Given the description of an element on the screen output the (x, y) to click on. 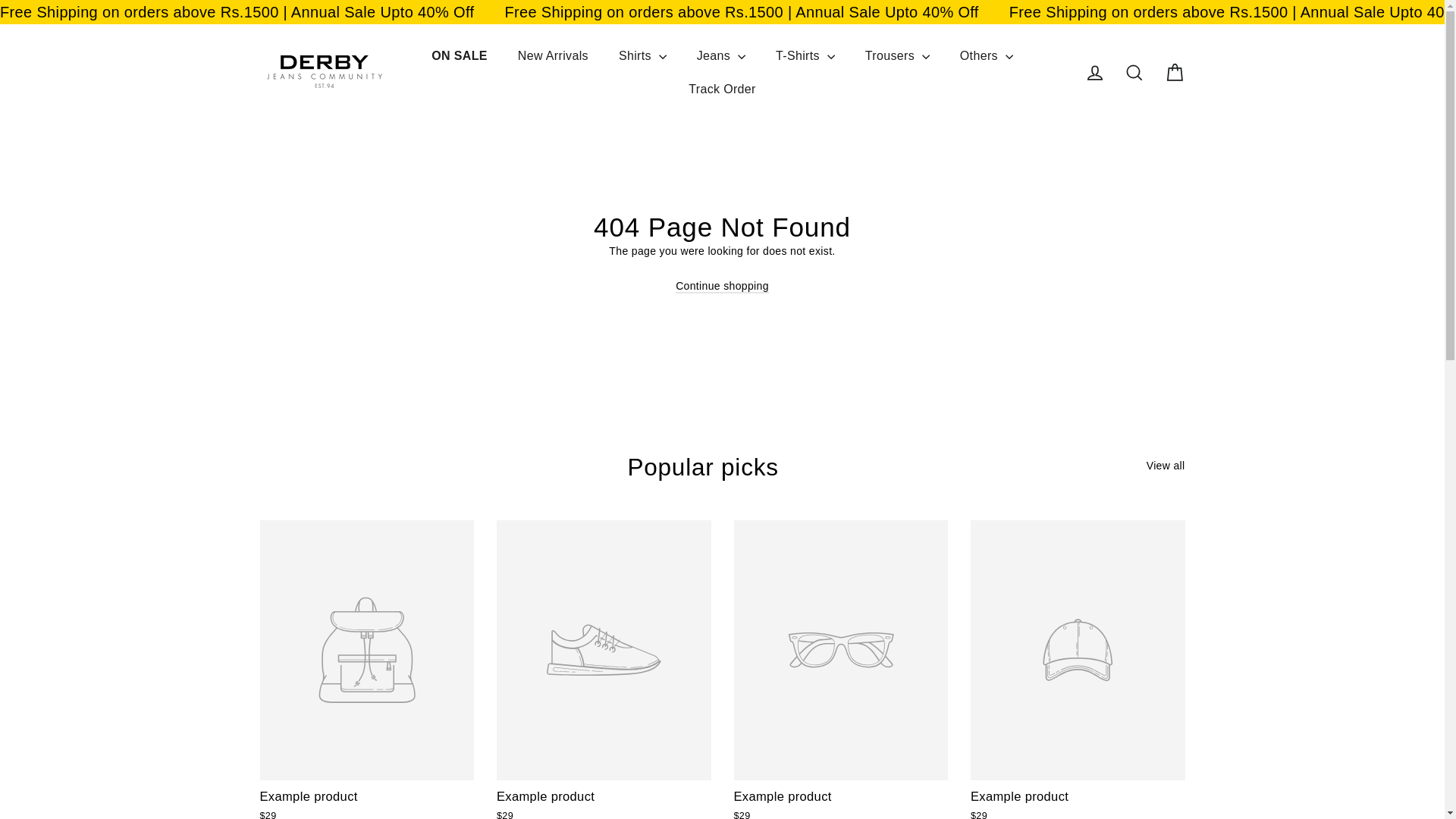
ON SALE (459, 55)
account (1094, 72)
icon-search (1134, 72)
New Arrivals (553, 55)
